Given the description of an element on the screen output the (x, y) to click on. 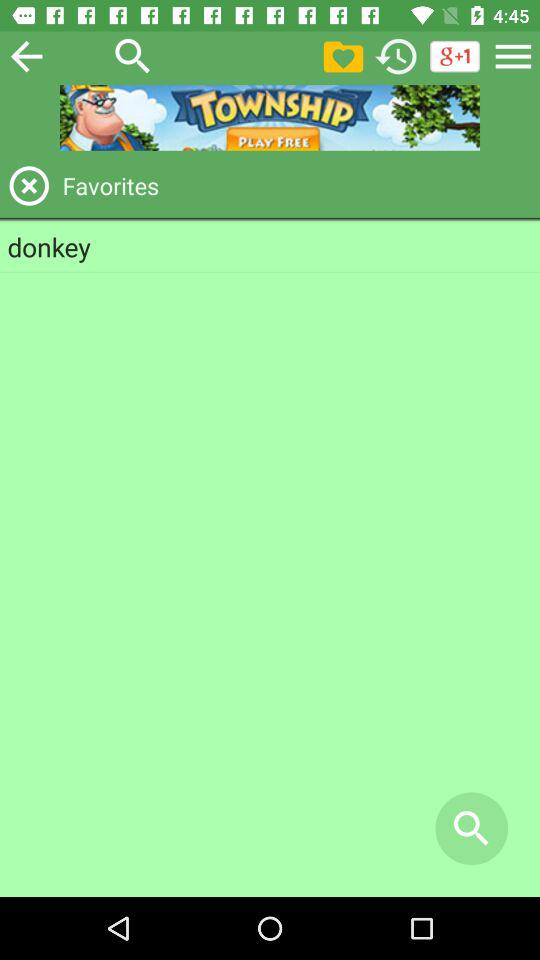
go to back page (26, 56)
